Given the description of an element on the screen output the (x, y) to click on. 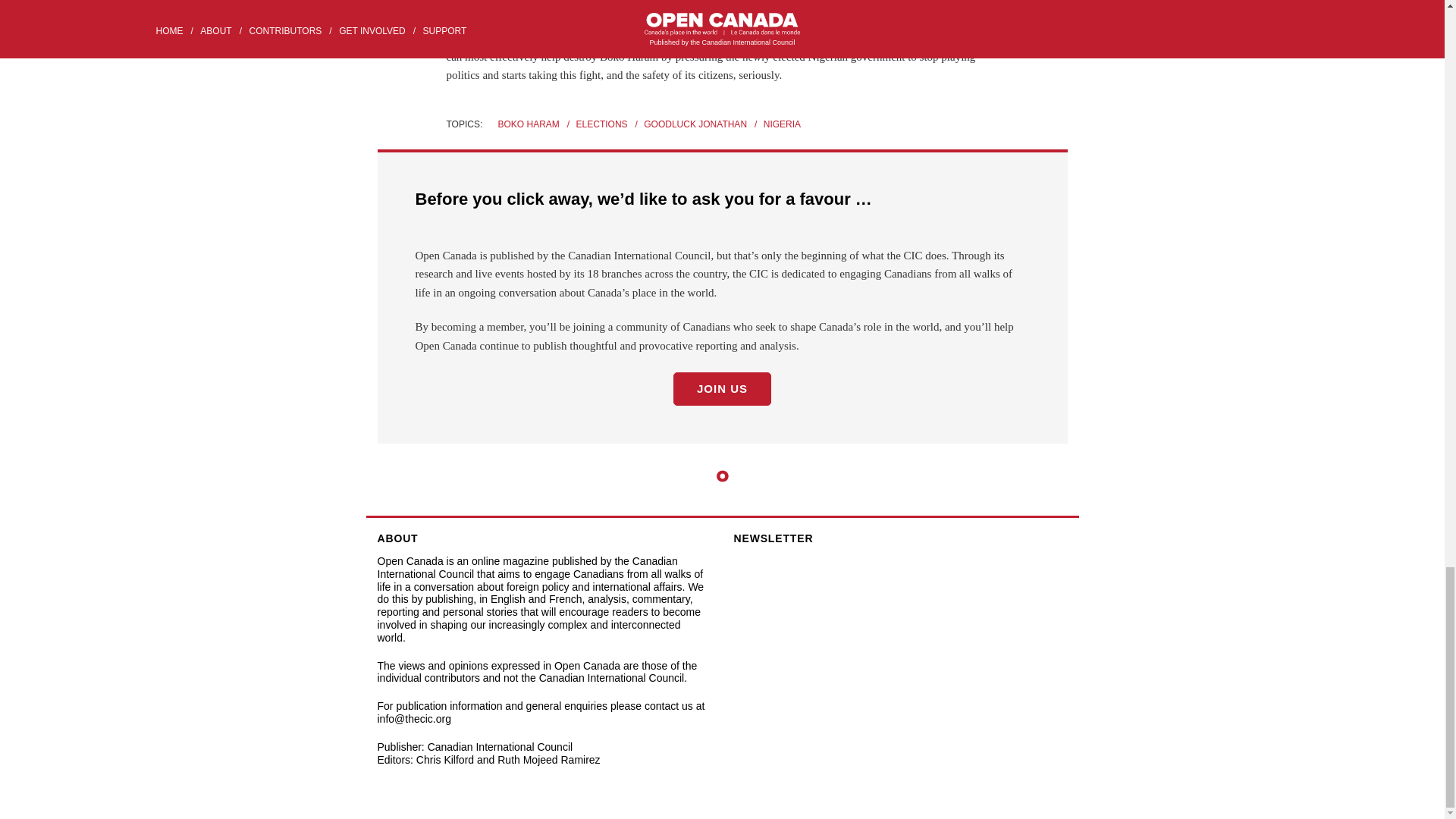
NIGERIA (787, 123)
GOODLUCK JONATHAN (701, 123)
JOIN US (721, 388)
BOKO HARAM (535, 123)
ELECTIONS (609, 123)
